Given the description of an element on the screen output the (x, y) to click on. 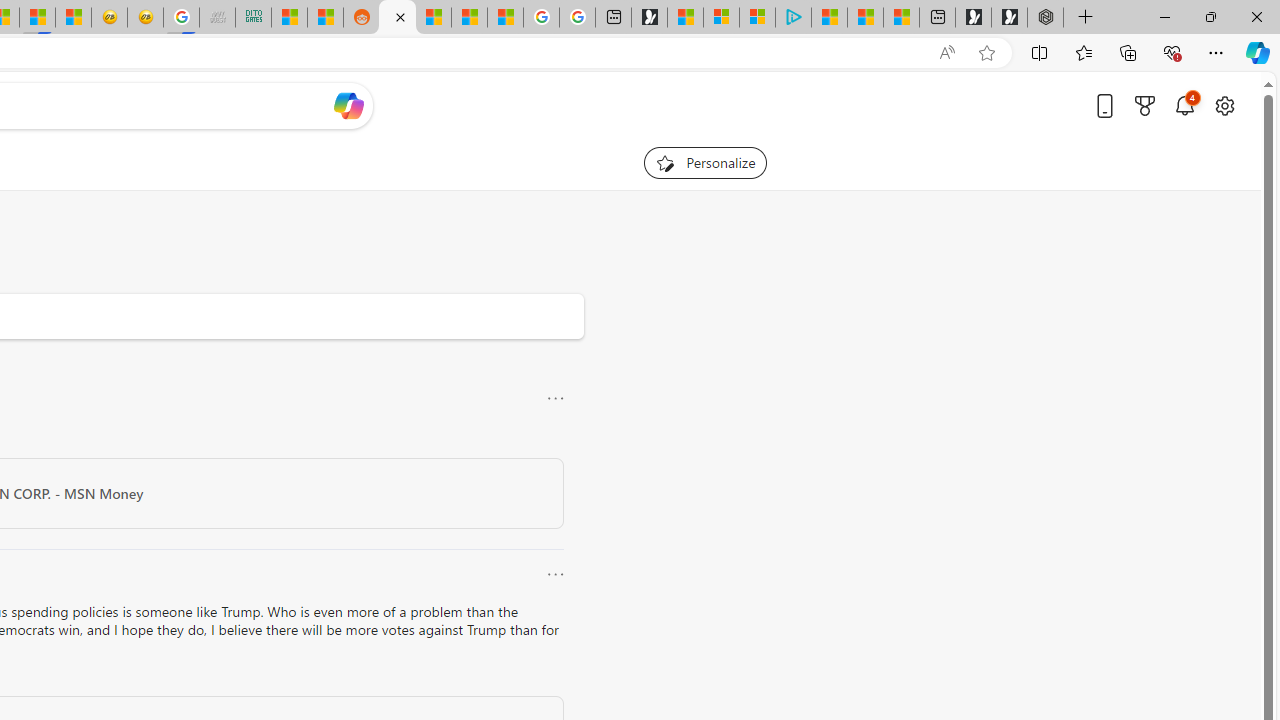
R******* | Trusted Community Engagement and Contributions (397, 17)
